Given the description of an element on the screen output the (x, y) to click on. 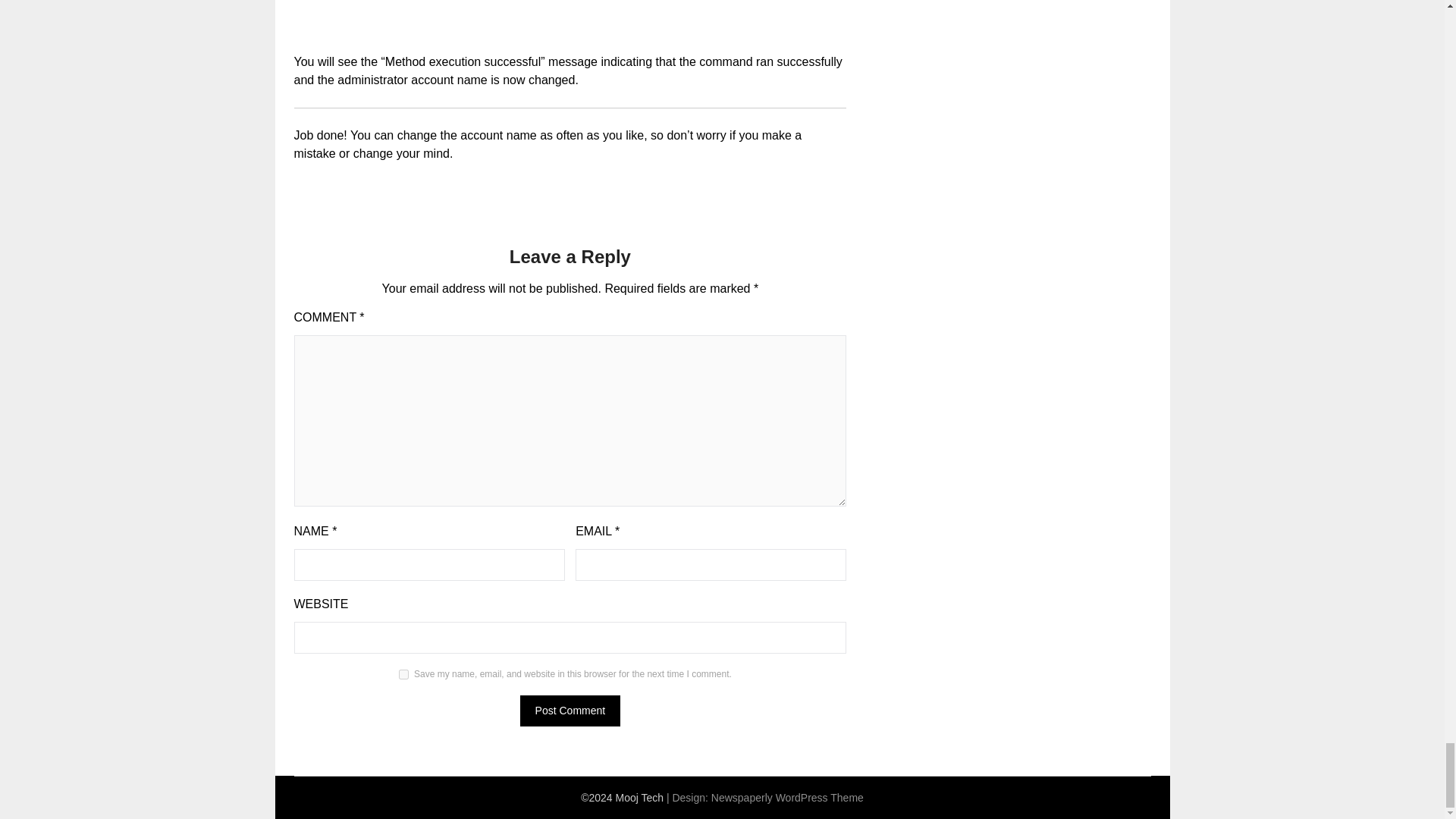
Post Comment (570, 710)
yes (403, 674)
Post Comment (570, 710)
Newspaperly WordPress Theme (787, 797)
